Given the description of an element on the screen output the (x, y) to click on. 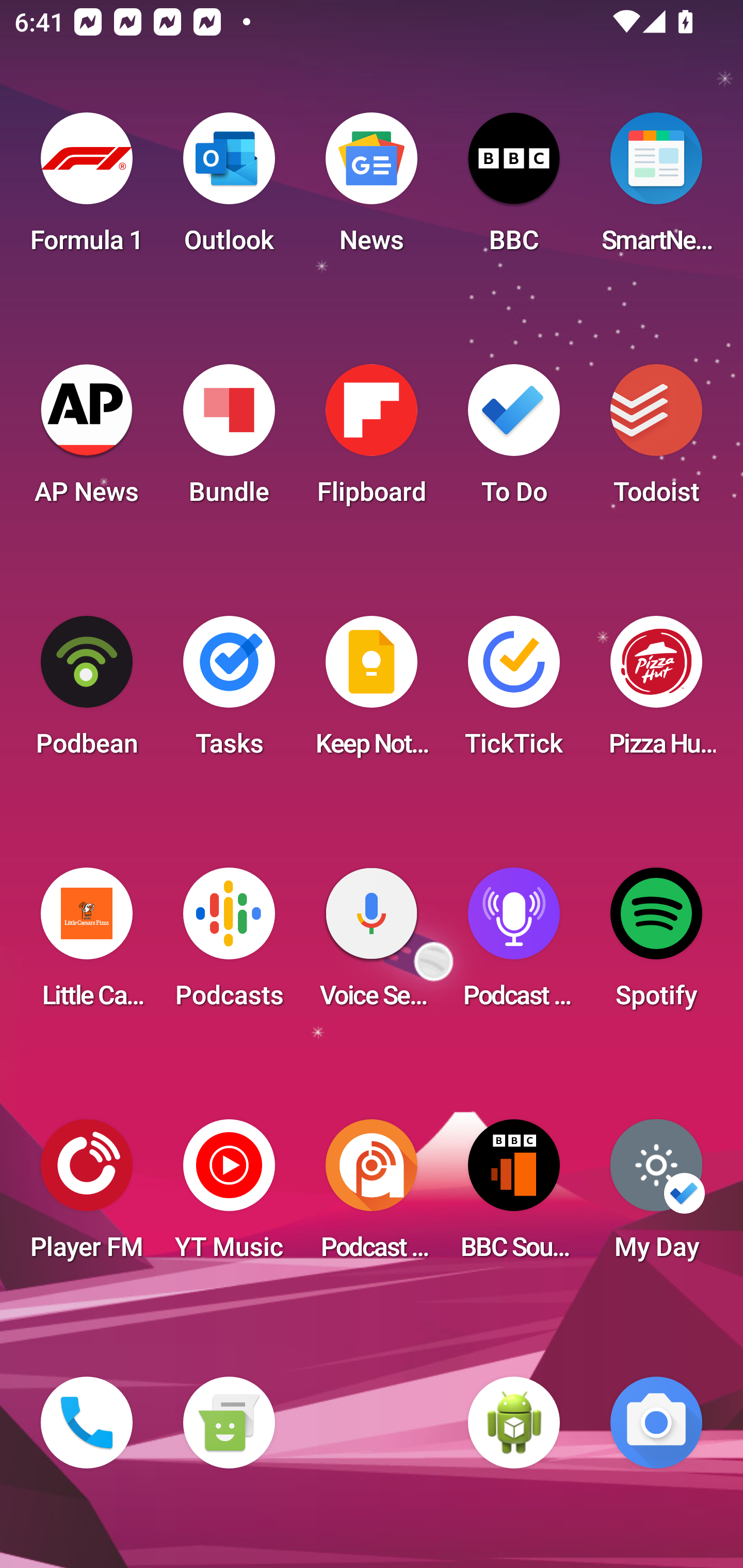
Formula 1 (86, 188)
Outlook (228, 188)
News (371, 188)
BBC (513, 188)
SmartNews (656, 188)
AP News (86, 440)
Bundle (228, 440)
Flipboard (371, 440)
To Do (513, 440)
Todoist (656, 440)
Podbean (86, 692)
Tasks (228, 692)
Keep Notes (371, 692)
TickTick (513, 692)
Pizza Hut HK & Macau (656, 692)
Little Caesars Pizza (86, 943)
Podcasts (228, 943)
Voice Search (371, 943)
Podcast Player (513, 943)
Spotify (656, 943)
Player FM (86, 1195)
YT Music (228, 1195)
Podcast Addict (371, 1195)
BBC Sounds (513, 1195)
My Day (656, 1195)
Phone (86, 1422)
Messaging (228, 1422)
WebView Browser Tester (513, 1422)
Camera (656, 1422)
